Given the description of an element on the screen output the (x, y) to click on. 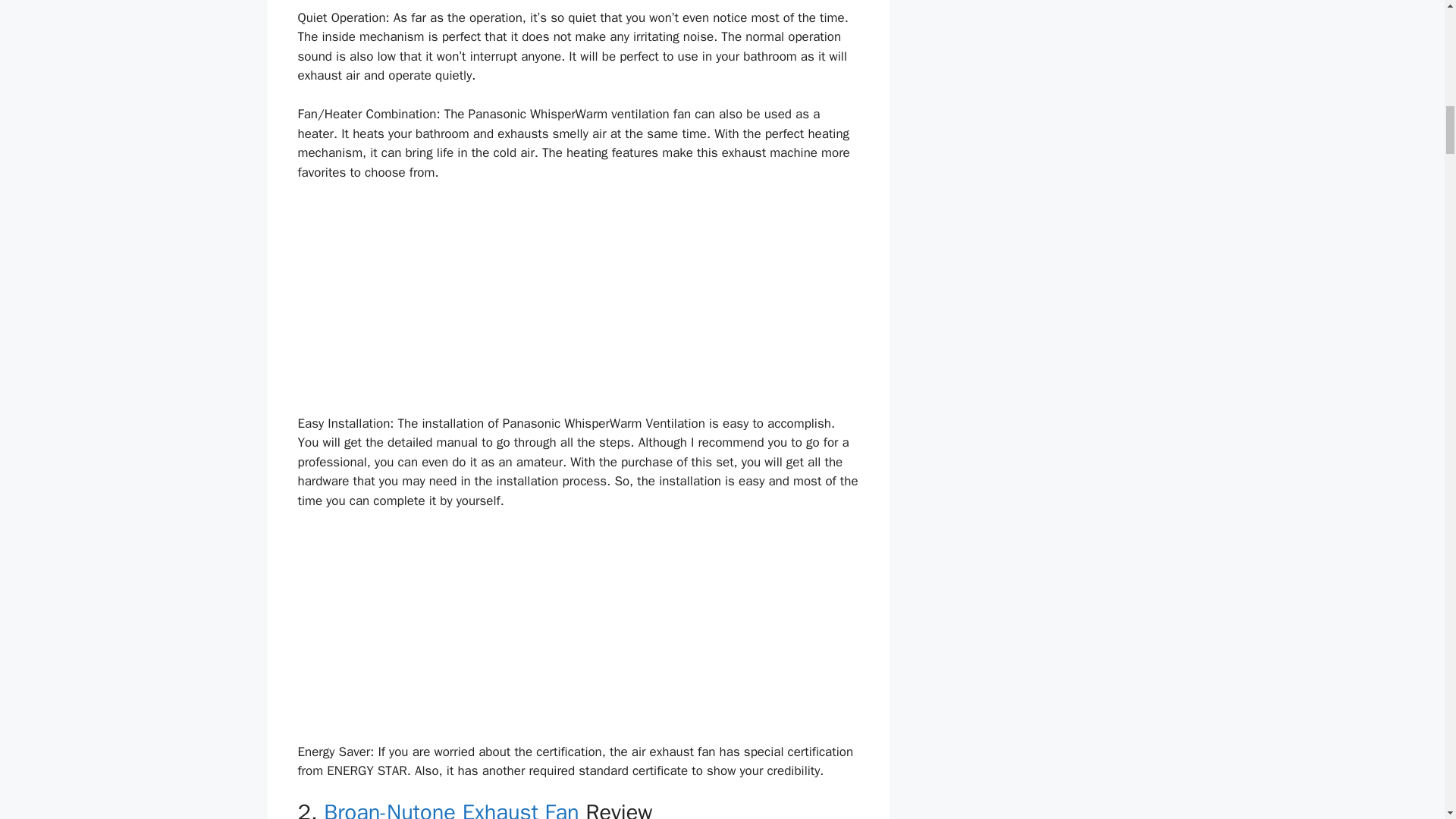
Advertisement (578, 635)
Advertisement (578, 307)
Advertisement (578, 4)
Broan-Nutone Exhaust Fan (450, 808)
